Given the description of an element on the screen output the (x, y) to click on. 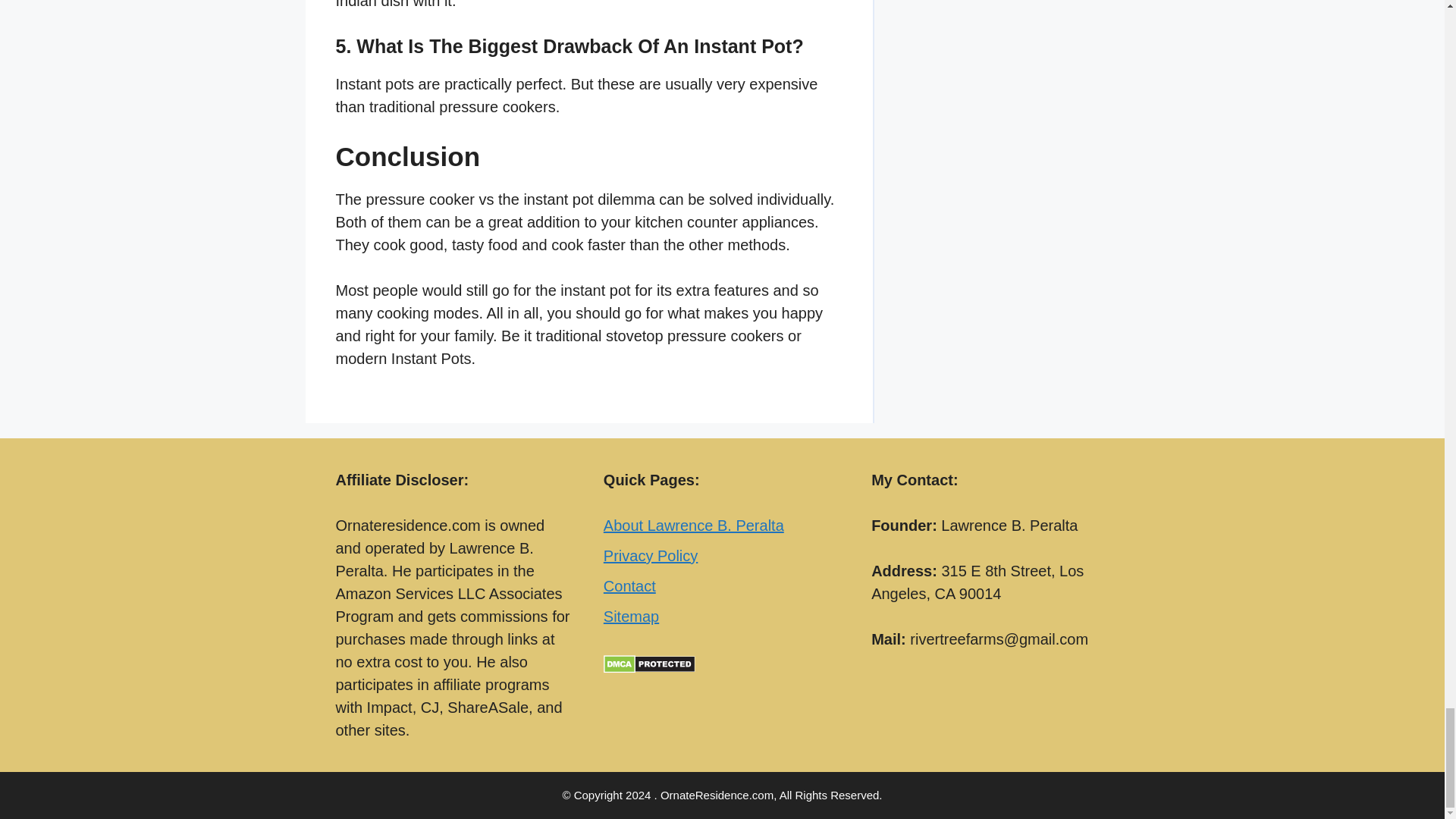
Sitemap (631, 616)
Privacy Policy (650, 555)
About Lawrence B. Peralta (694, 524)
Contact (630, 586)
